Given the description of an element on the screen output the (x, y) to click on. 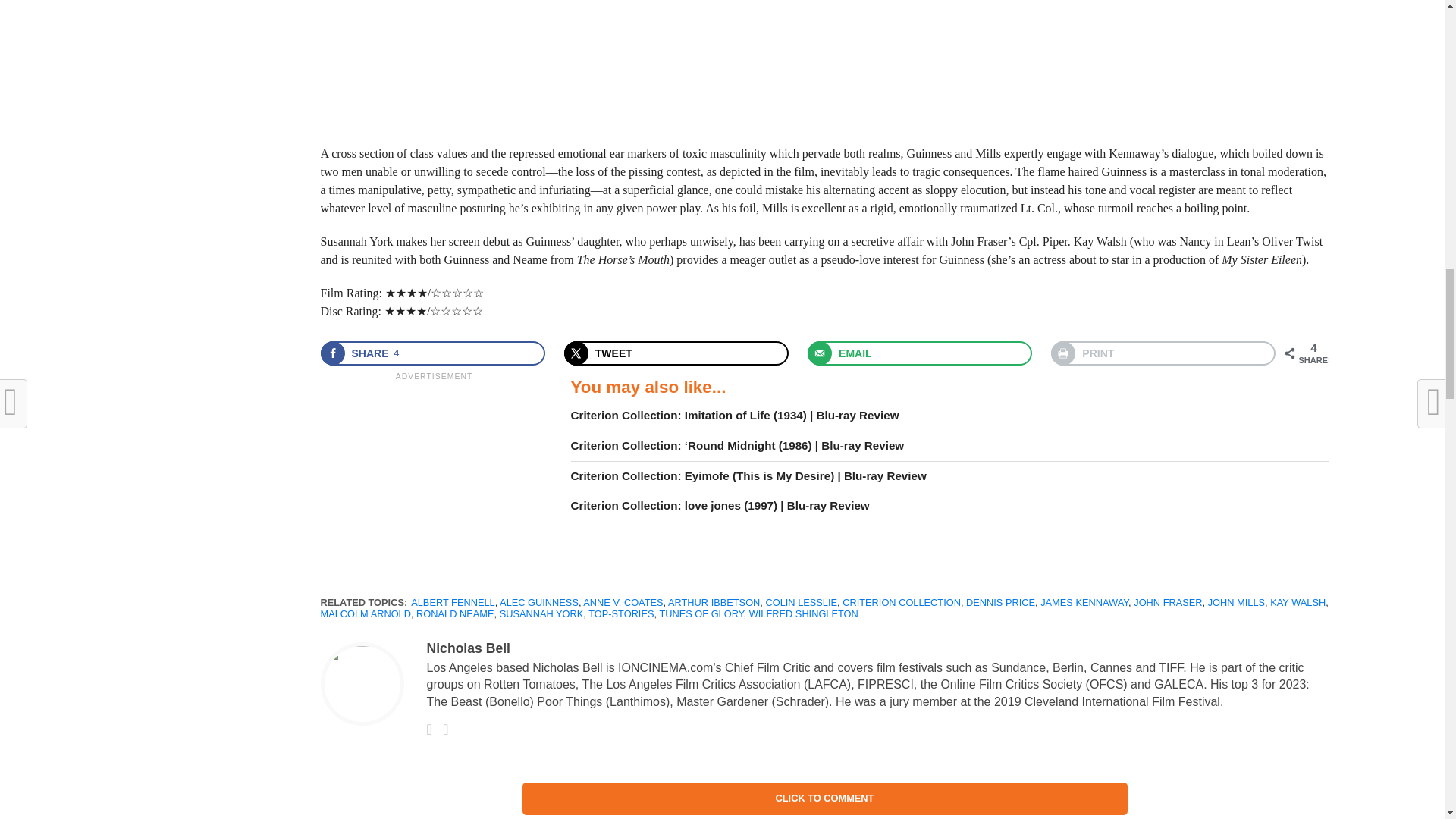
Share on Facebook (432, 353)
Send over email (920, 353)
Share on X (676, 353)
Print this webpage (1163, 353)
